Given the description of an element on the screen output the (x, y) to click on. 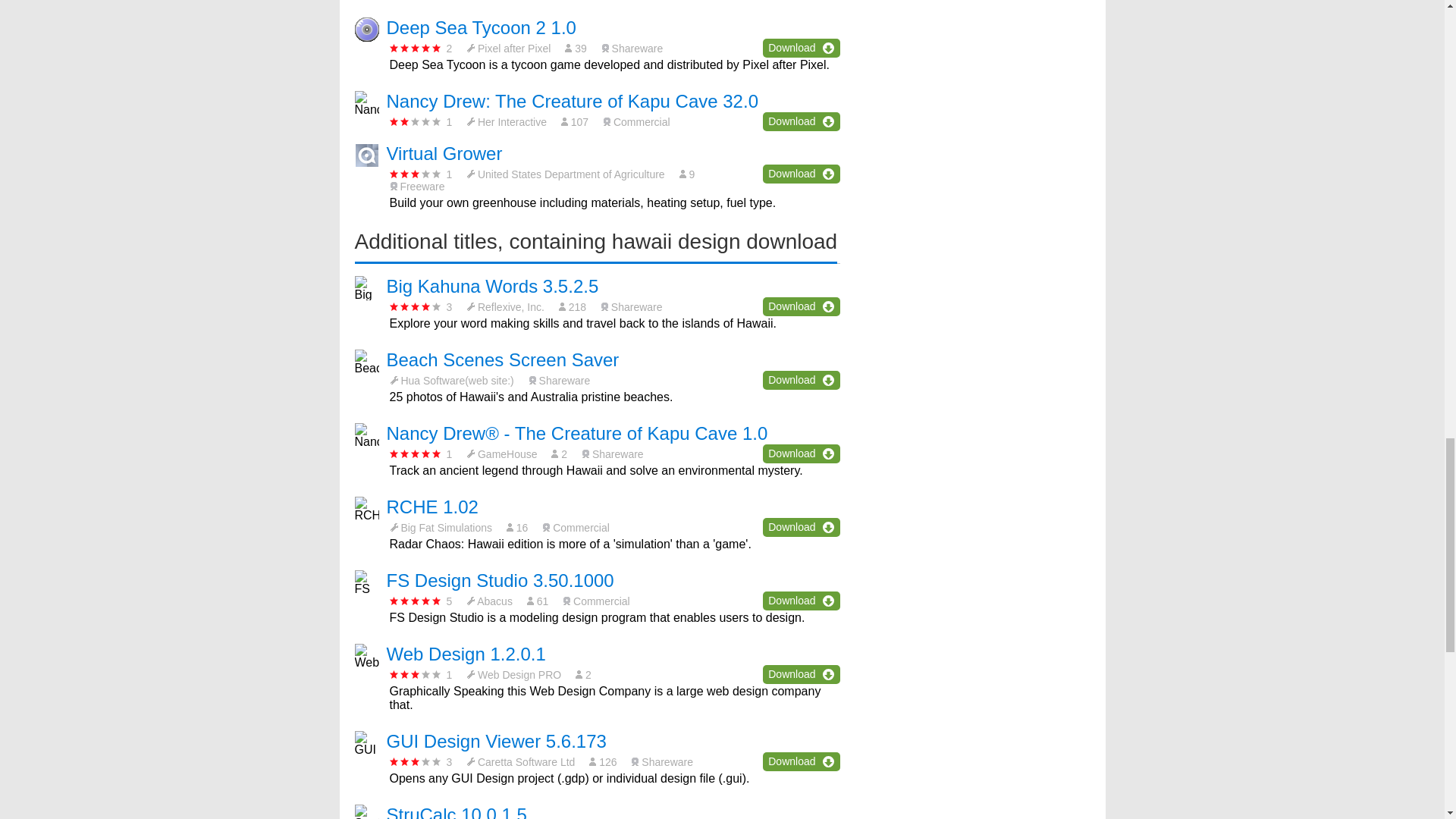
5 (415, 48)
Download (801, 47)
2 (415, 121)
Download (801, 121)
Download (801, 173)
Download (801, 306)
Deep Sea Tycoon 2 1.0 (481, 27)
3 (415, 173)
Virtual Grower  (444, 153)
Deep Sea Tycoon 2 1.0 (481, 27)
Nancy Drew: The Creature of Kapu Cave 32.0 (572, 100)
Nancy Drew: The Creature of Kapu Cave 32.0 (572, 100)
Big Kahuna Words 3.5.2.5 (492, 286)
Virtual Grower (444, 153)
